Given the description of an element on the screen output the (x, y) to click on. 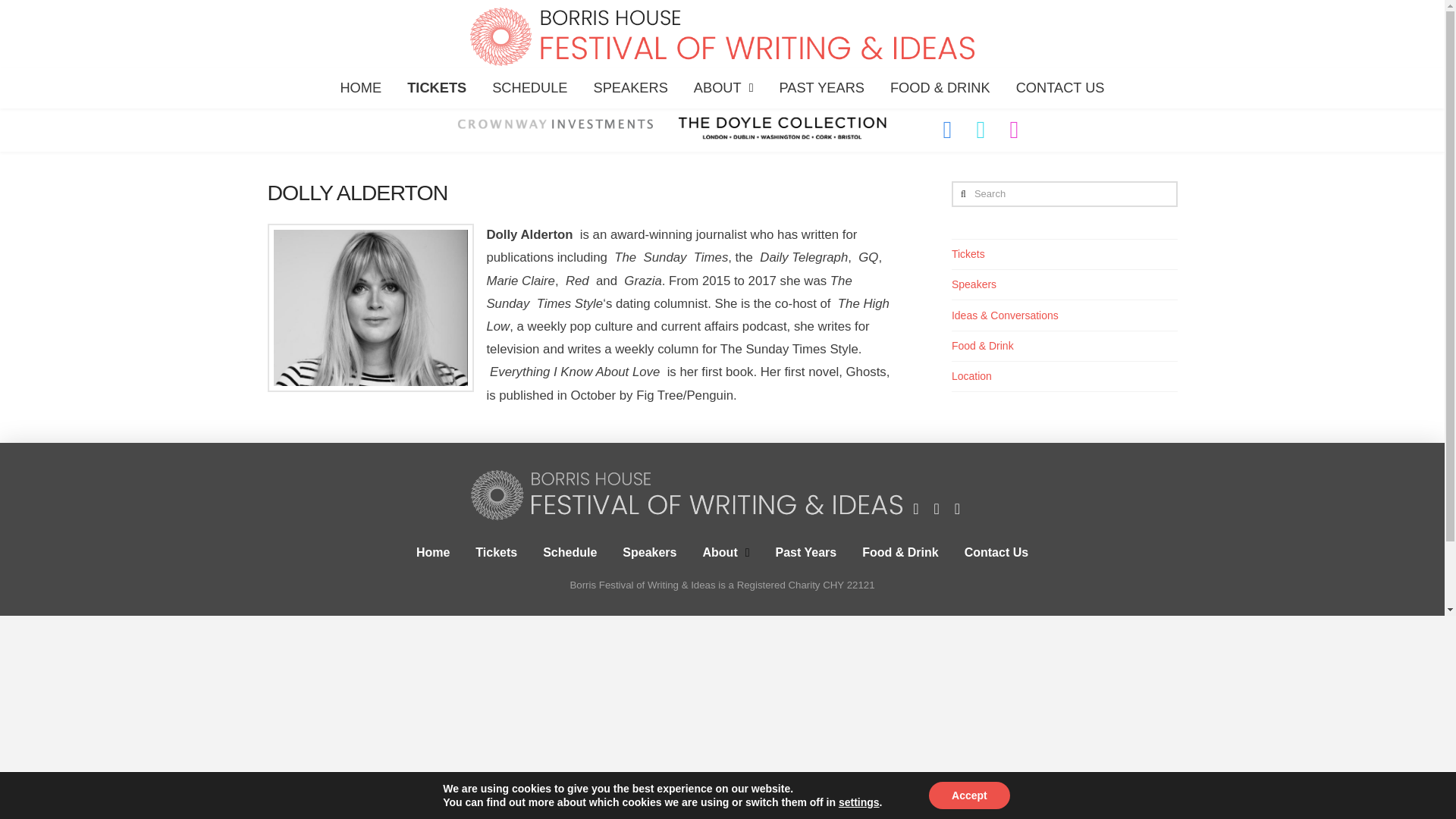
PAST YEARS (821, 87)
Tickets (496, 551)
ABOUT (724, 87)
CONTACT US (1060, 87)
HOME (360, 87)
SPEAKERS (630, 87)
Past Years (806, 551)
Location (971, 376)
Schedule (569, 551)
Home (433, 551)
